Given the description of an element on the screen output the (x, y) to click on. 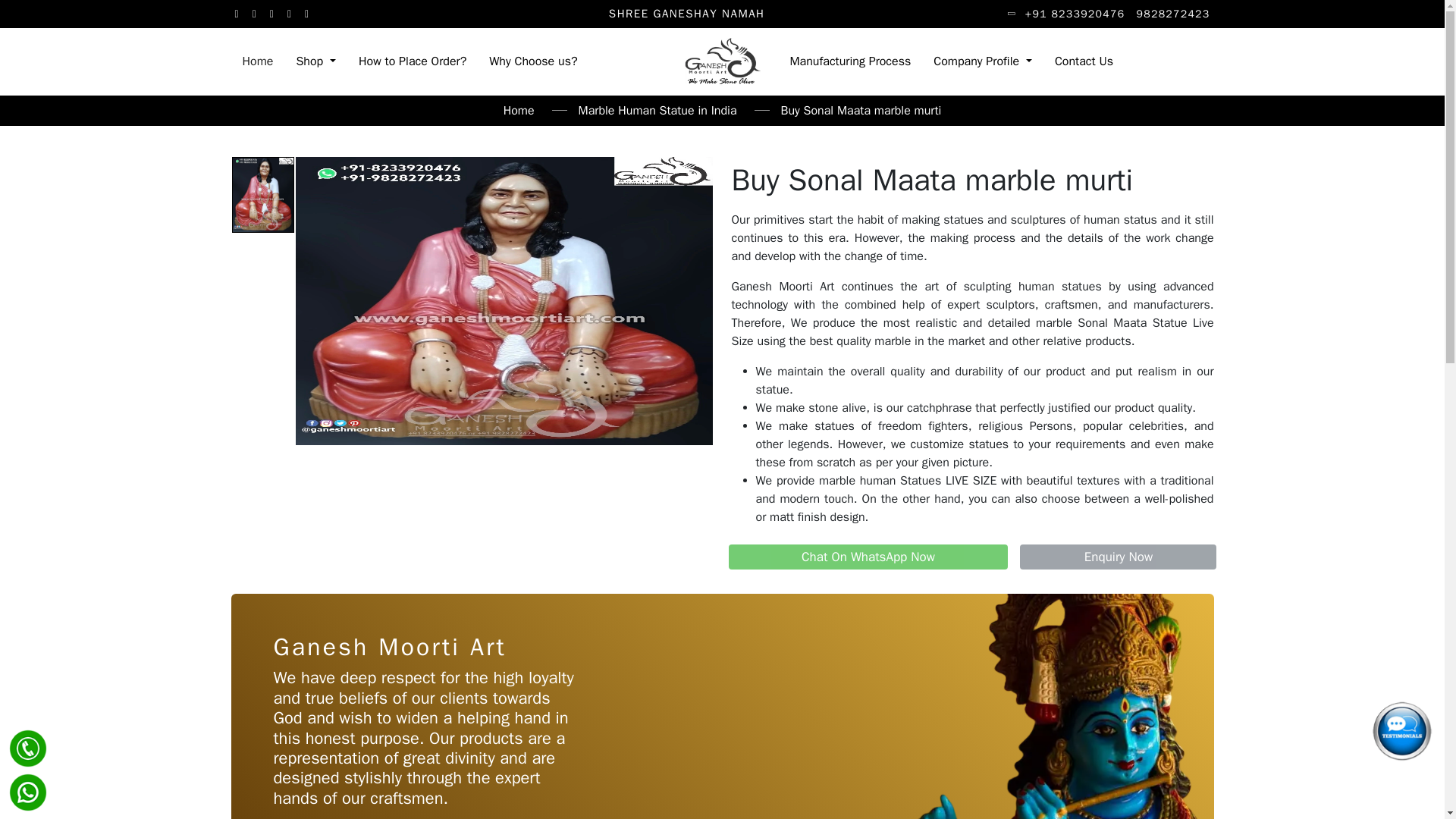
Manufacturing Process (849, 61)
How to Place Order? (412, 61)
Why Choose us? (532, 61)
9828272423 (1173, 13)
Home (256, 61)
Company Profile (982, 61)
Shop (315, 61)
